Given the description of an element on the screen output the (x, y) to click on. 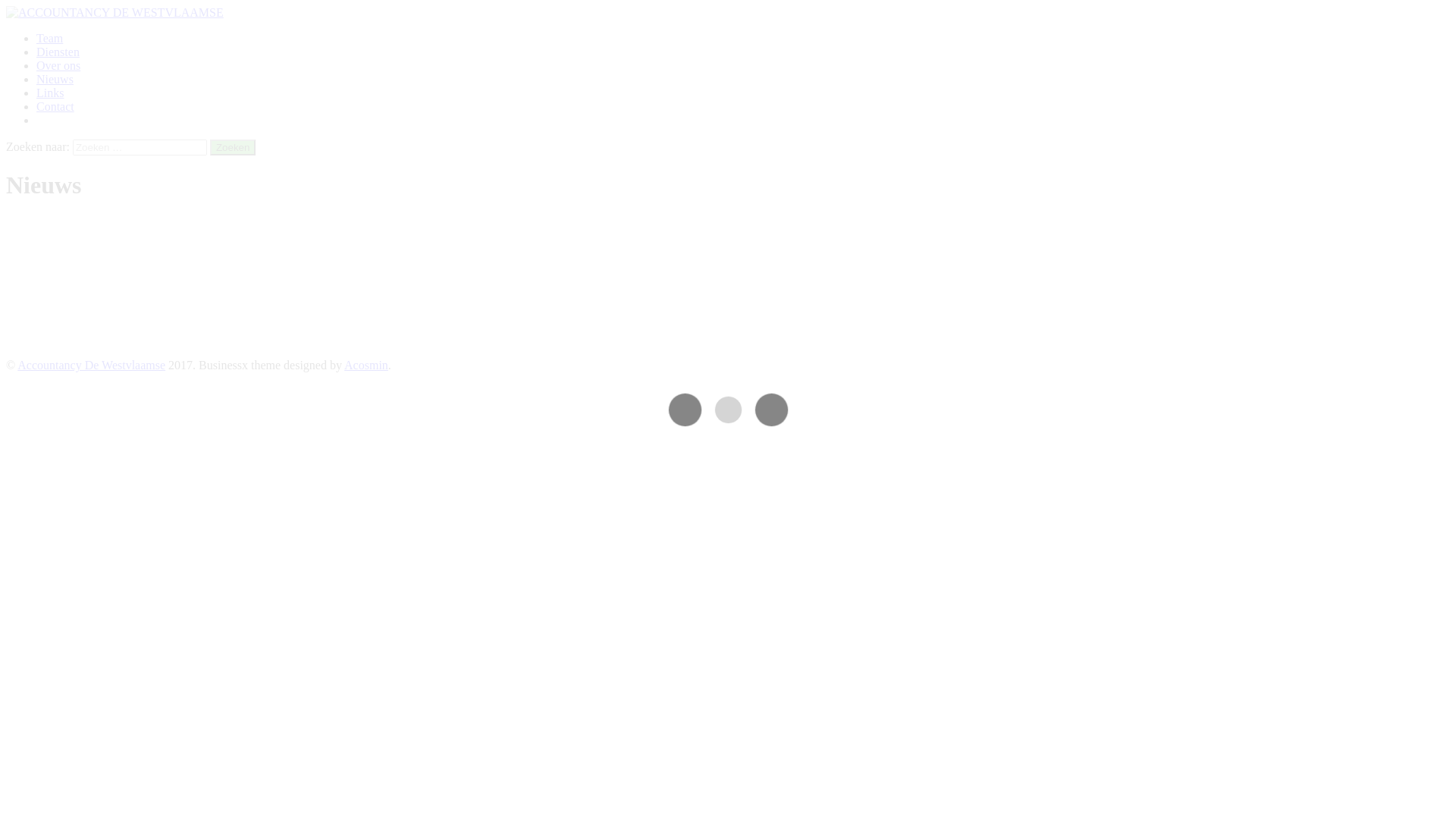
Over ons Element type: text (58, 65)
Links Element type: text (49, 92)
Contact Element type: text (55, 106)
Nieuws Element type: text (54, 78)
Zoeken Element type: text (232, 147)
Team Element type: text (49, 37)
Acosmin Element type: text (366, 364)
Diensten Element type: text (57, 51)
Accountancy De Westvlaamse Element type: text (91, 364)
